Given the description of an element on the screen output the (x, y) to click on. 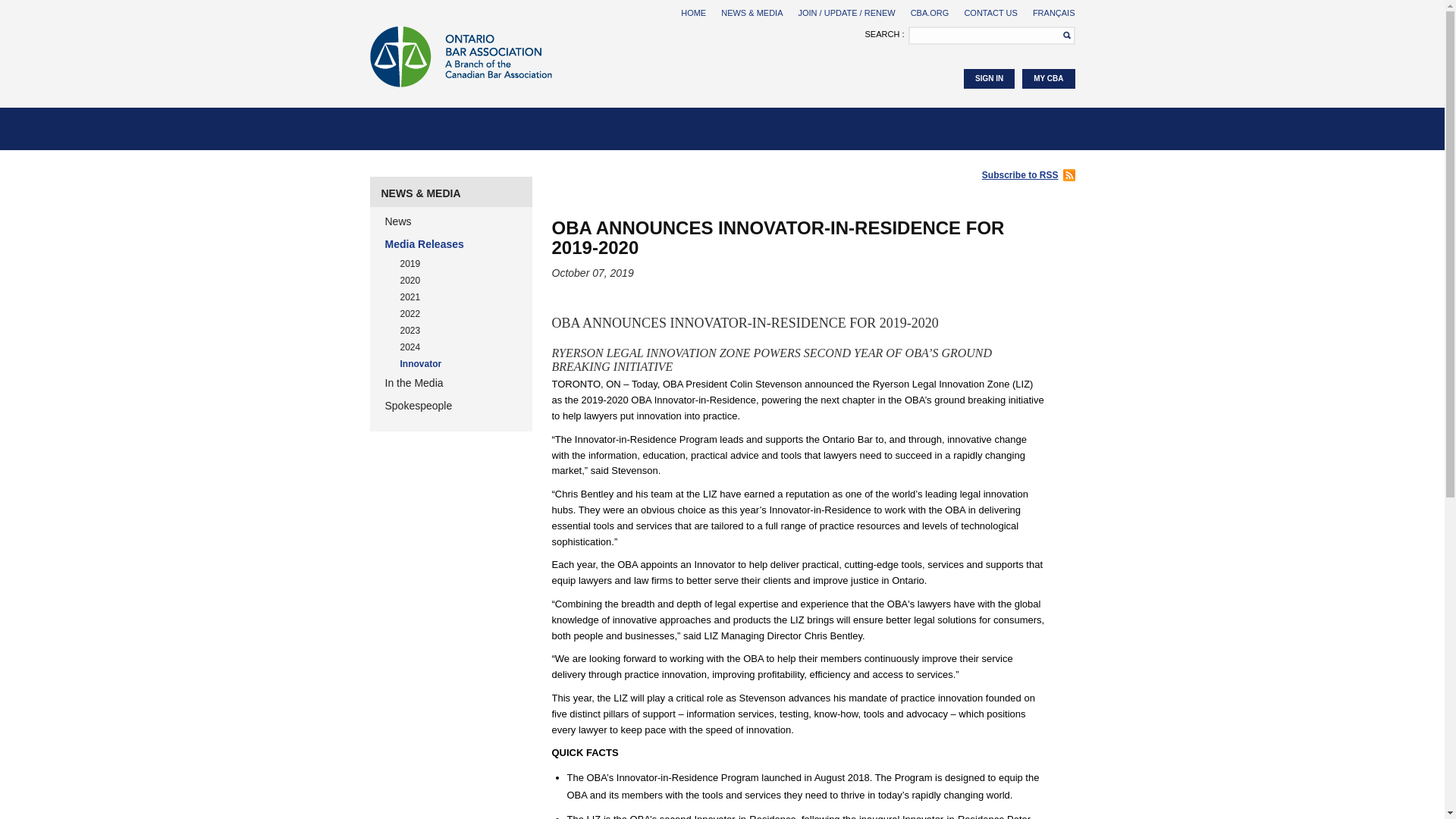
Search (1062, 35)
HOME (693, 12)
Search (1062, 35)
SIGN IN (988, 78)
MY CBA (1048, 78)
CBA.ORG (930, 12)
CONTACT US (990, 12)
